Given the description of an element on the screen output the (x, y) to click on. 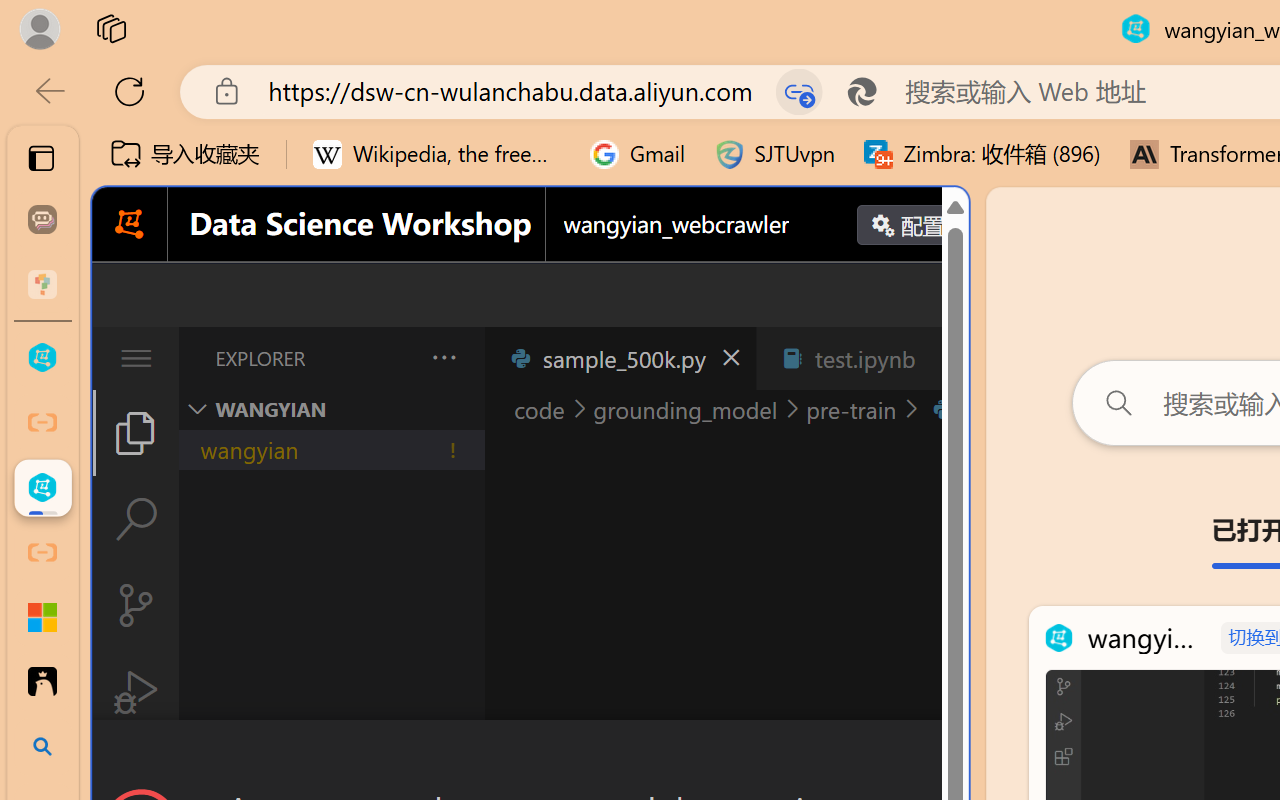
Class: menubar compact overflow-menu-only (135, 358)
Close (Ctrl+F4) (946, 358)
wangyian_webcrawler - DSW (42, 487)
Explorer actions (391, 358)
